Given the description of an element on the screen output the (x, y) to click on. 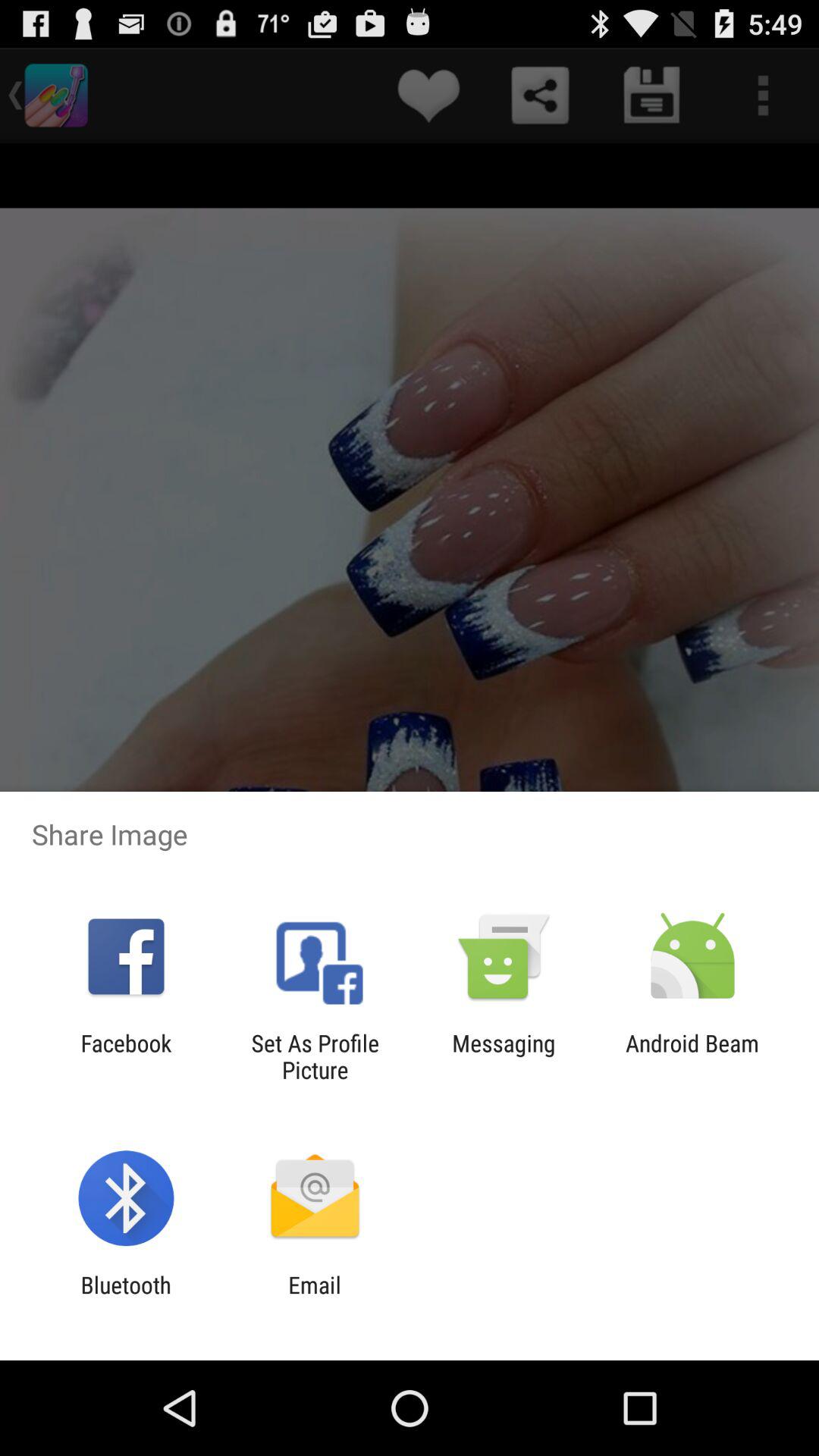
jump to the facebook icon (125, 1056)
